Given the description of an element on the screen output the (x, y) to click on. 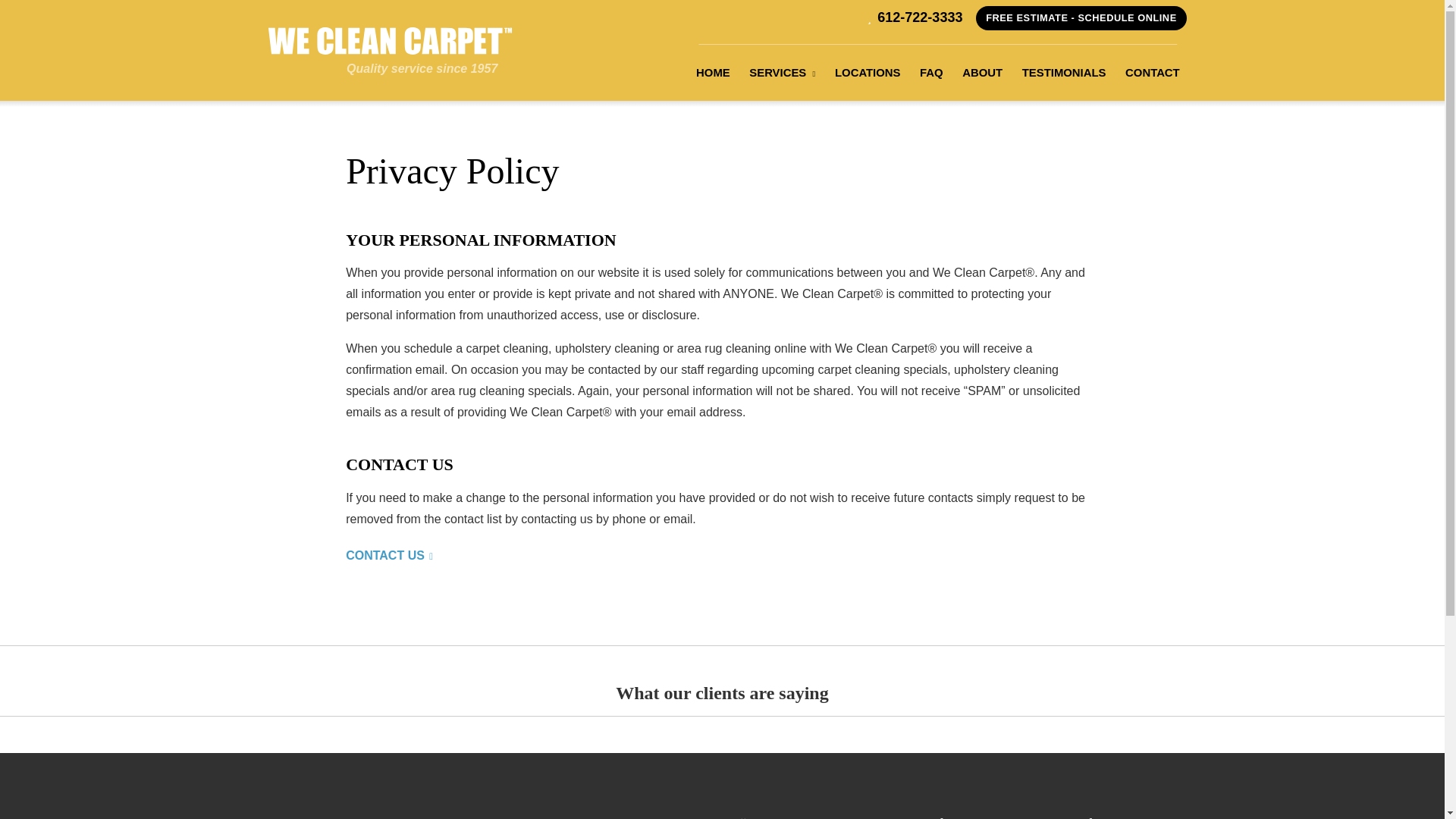
CONTACT (1152, 72)
ABOUT (981, 72)
TESTIMONIALS (1063, 72)
HOME (712, 72)
FREE ESTIMATE - SCHEDULE ONLINE (1080, 17)
CONTACT US (389, 554)
612-722-3333 (914, 17)
LOCATIONS (867, 72)
SERVICES (782, 72)
